Given the description of an element on the screen output the (x, y) to click on. 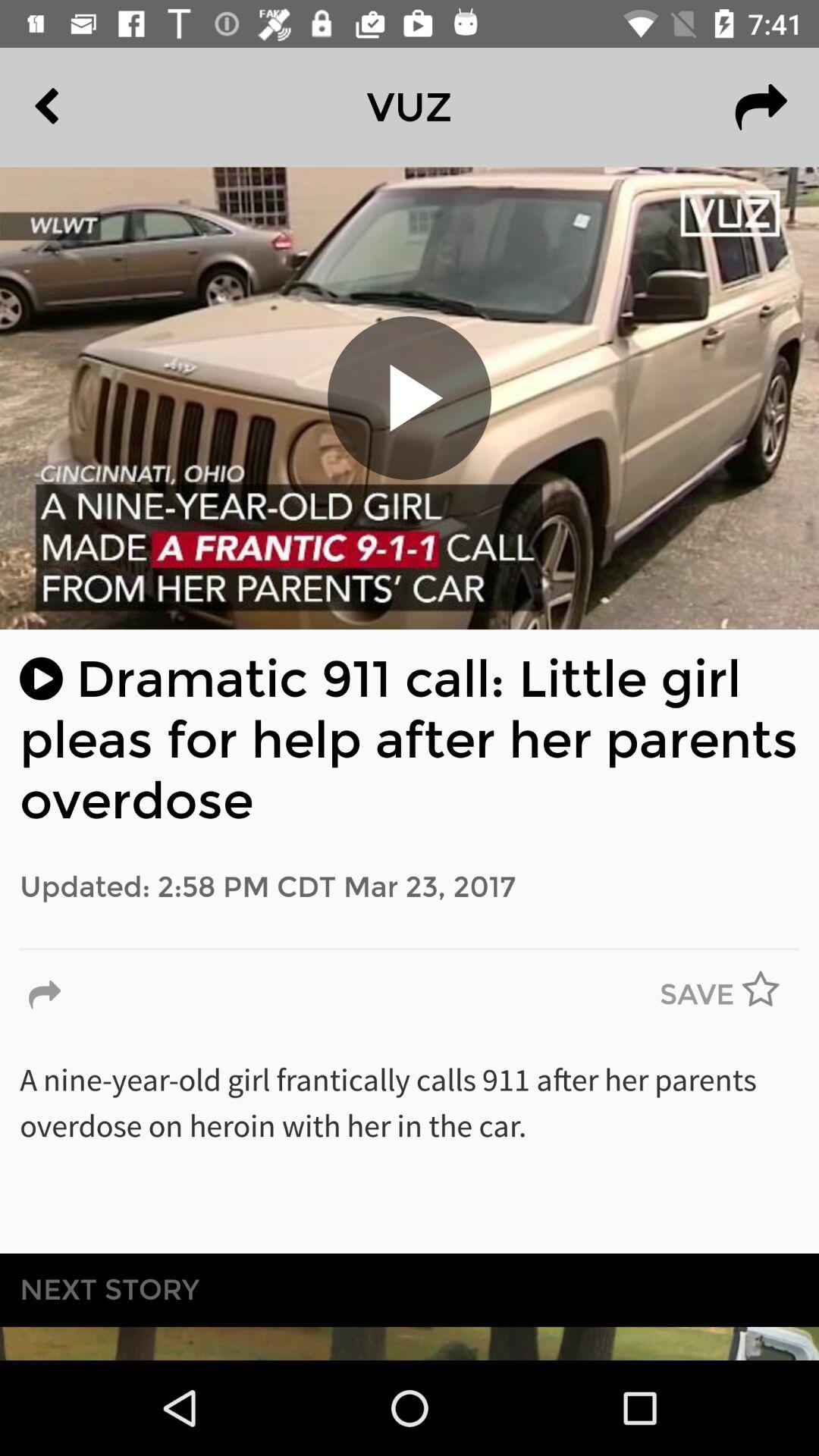
launch icon above the a nine year item (770, 995)
